Given the description of an element on the screen output the (x, y) to click on. 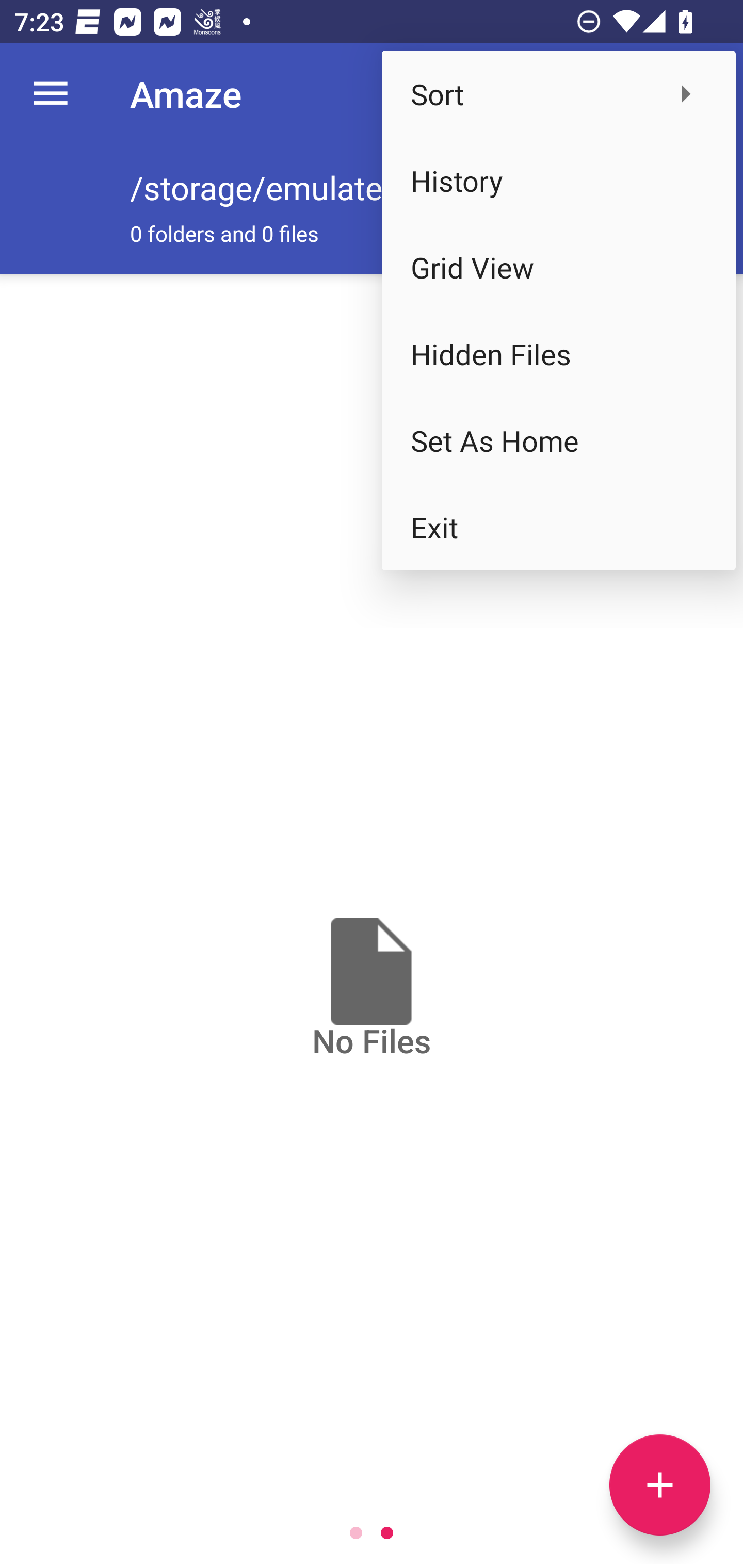
Sort (558, 93)
History (558, 180)
Grid View (558, 267)
Hidden Files (558, 353)
Set As Home (558, 440)
Exit (558, 527)
